Given the description of an element on the screen output the (x, y) to click on. 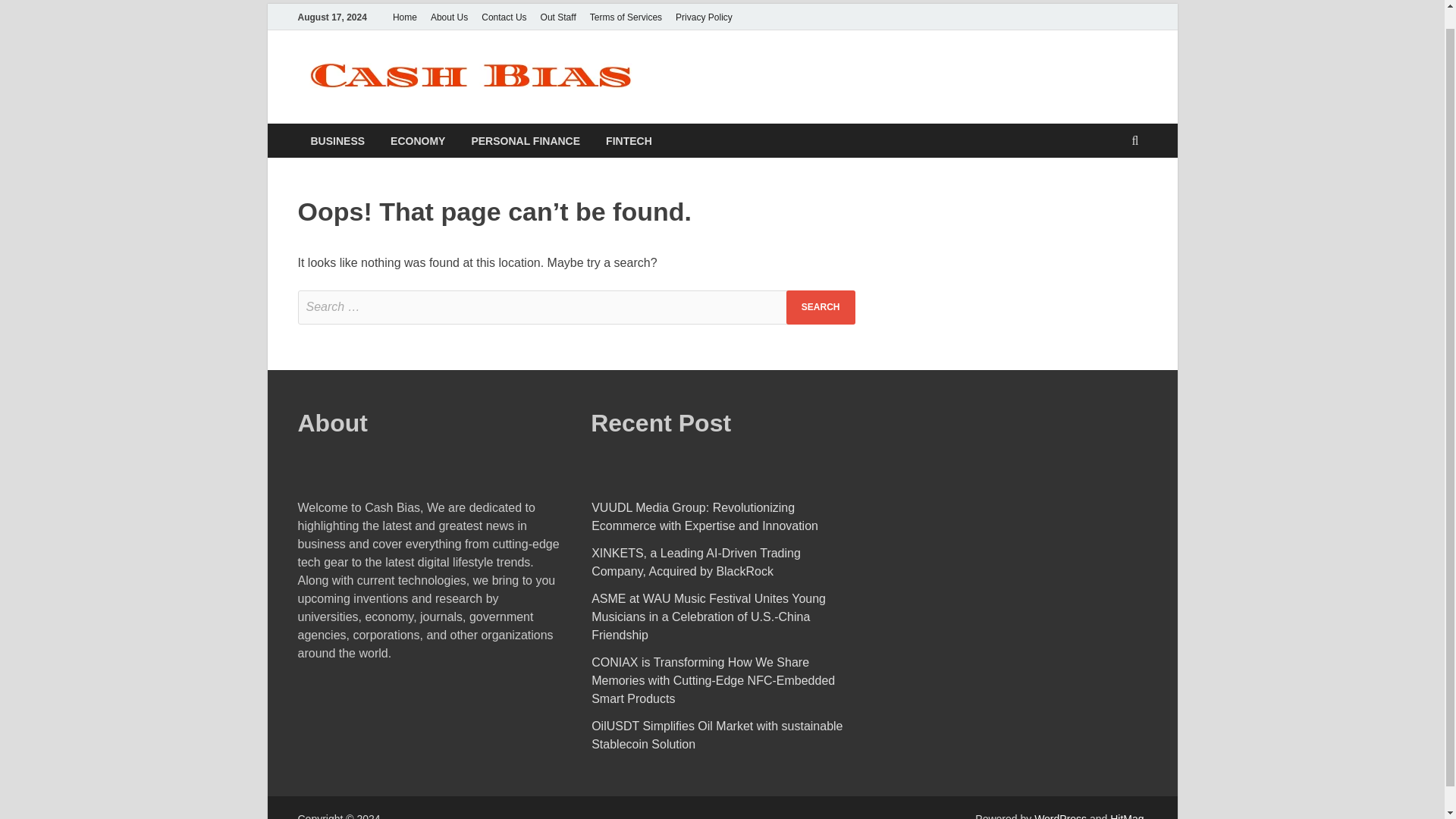
About Us (448, 17)
Privacy Policy (703, 17)
Terms of Services (625, 17)
Search (821, 307)
Contact Us (503, 17)
Out Staff (558, 17)
ECONOMY (417, 140)
